Given the description of an element on the screen output the (x, y) to click on. 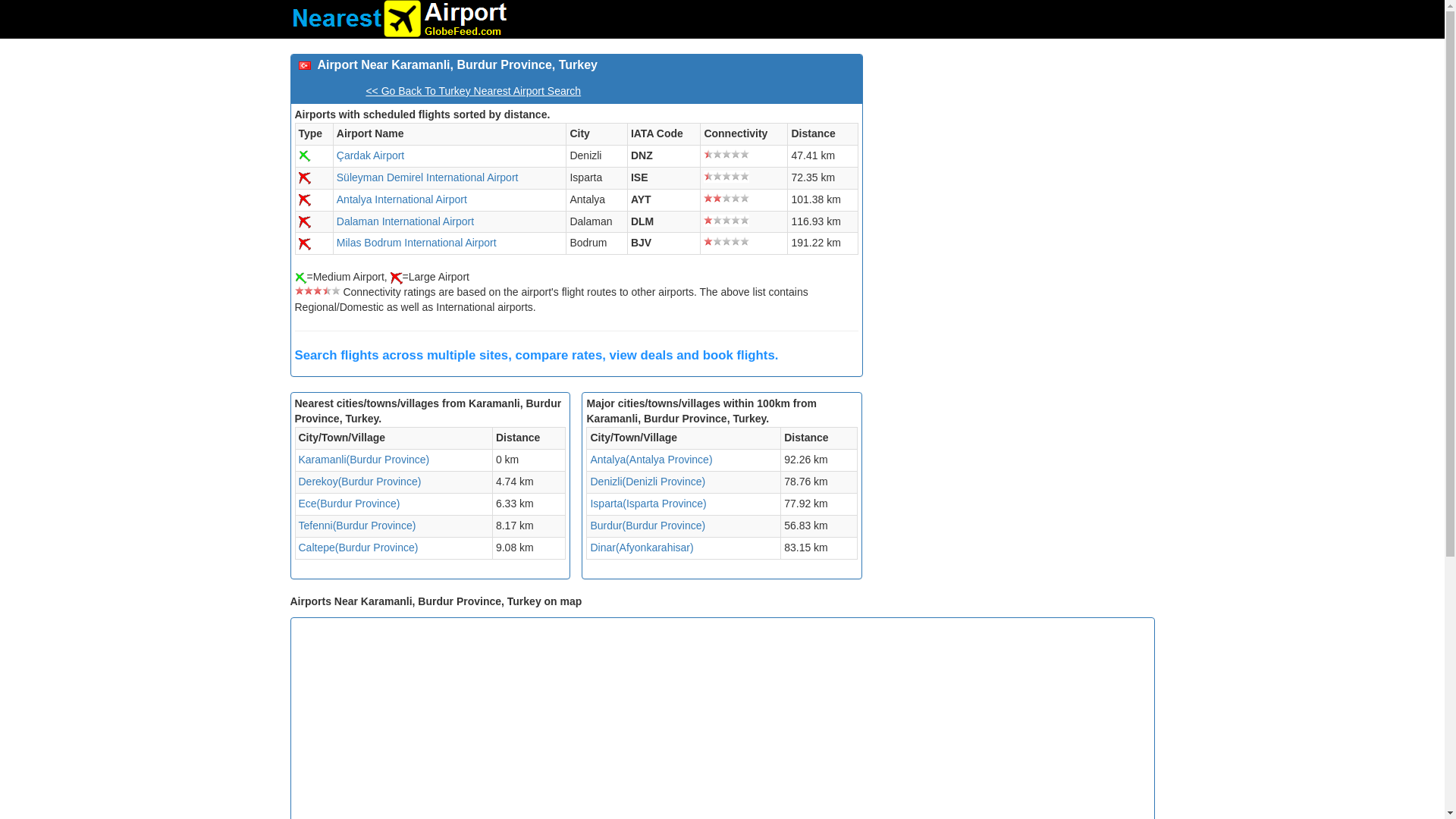
Airports near Antalya, Antalya Province, Turkey (650, 459)
Dalaman International Airport (405, 221)
Milas Bodrum International Airport (416, 242)
Advertisement (1013, 160)
Airports near Karamanli, Burdur Province, Turkey (363, 459)
Airports near Tefenni, Burdur Province, Turkey (357, 525)
Airports near Dinar, Afyonkarahisar, Turkey (641, 547)
Airports near Burdur, Burdur Province, Turkey (646, 525)
Airports near Caltepe, Burdur Province, Turkey (358, 547)
Advertisement (1083, 720)
Airports near Derekoy, Burdur Province, Turkey (360, 481)
Airports near Ece, Burdur Province, Turkey (349, 503)
Airports near Denizli, Denizli Province, Turkey (646, 481)
Antalya International Airport (401, 199)
Search Nearest Airport (398, 18)
